Given the description of an element on the screen output the (x, y) to click on. 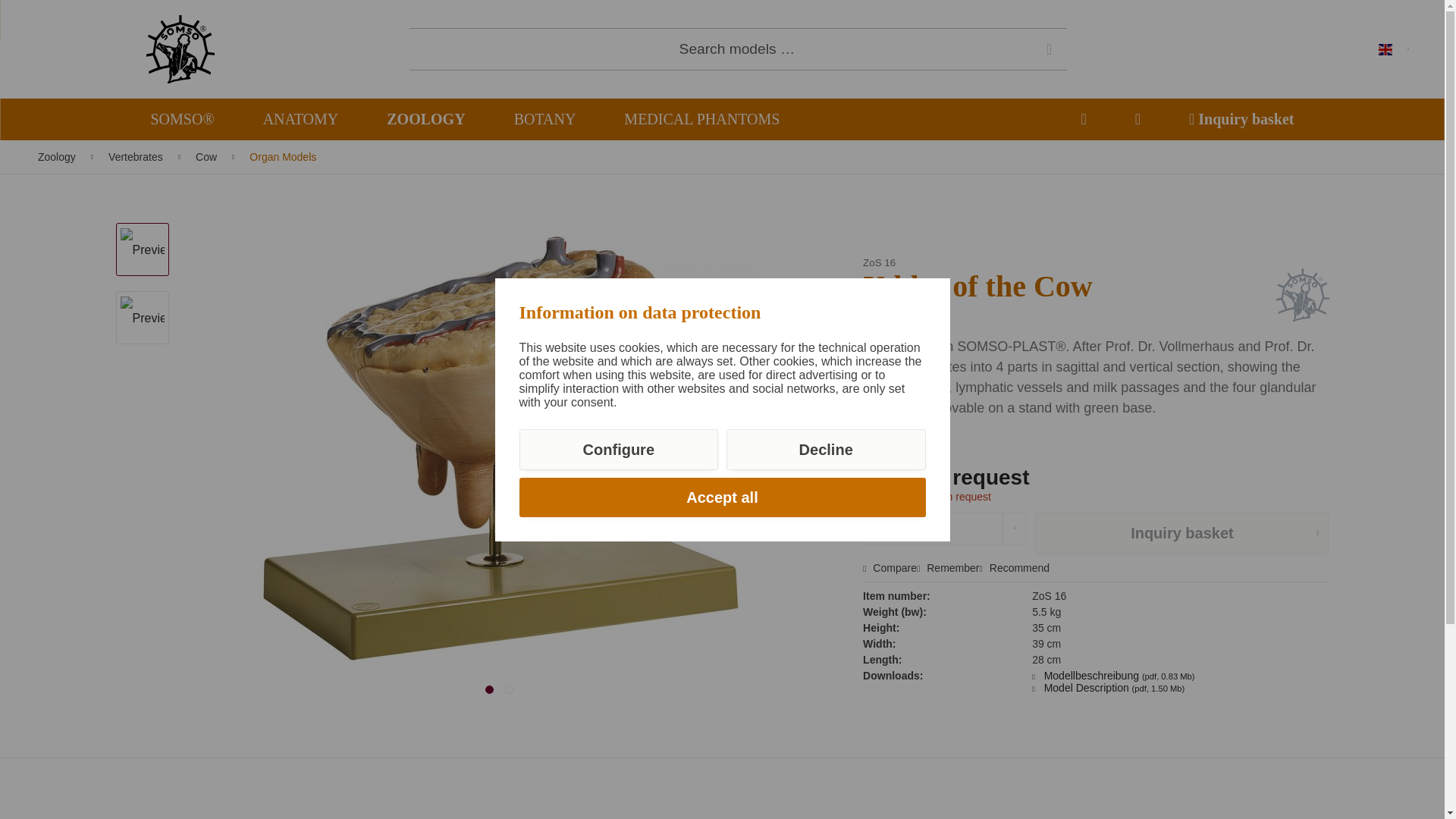
Inquiry basket (1240, 119)
MEDICAL PHANTOMS (701, 119)
Wish list (1083, 119)
BOTANY (544, 119)
Zoology (425, 119)
ANATOMY (300, 119)
Anatomy (300, 119)
Medical Phantoms (701, 119)
Botany (544, 119)
ZOOLOGY (425, 119)
